Given the description of an element on the screen output the (x, y) to click on. 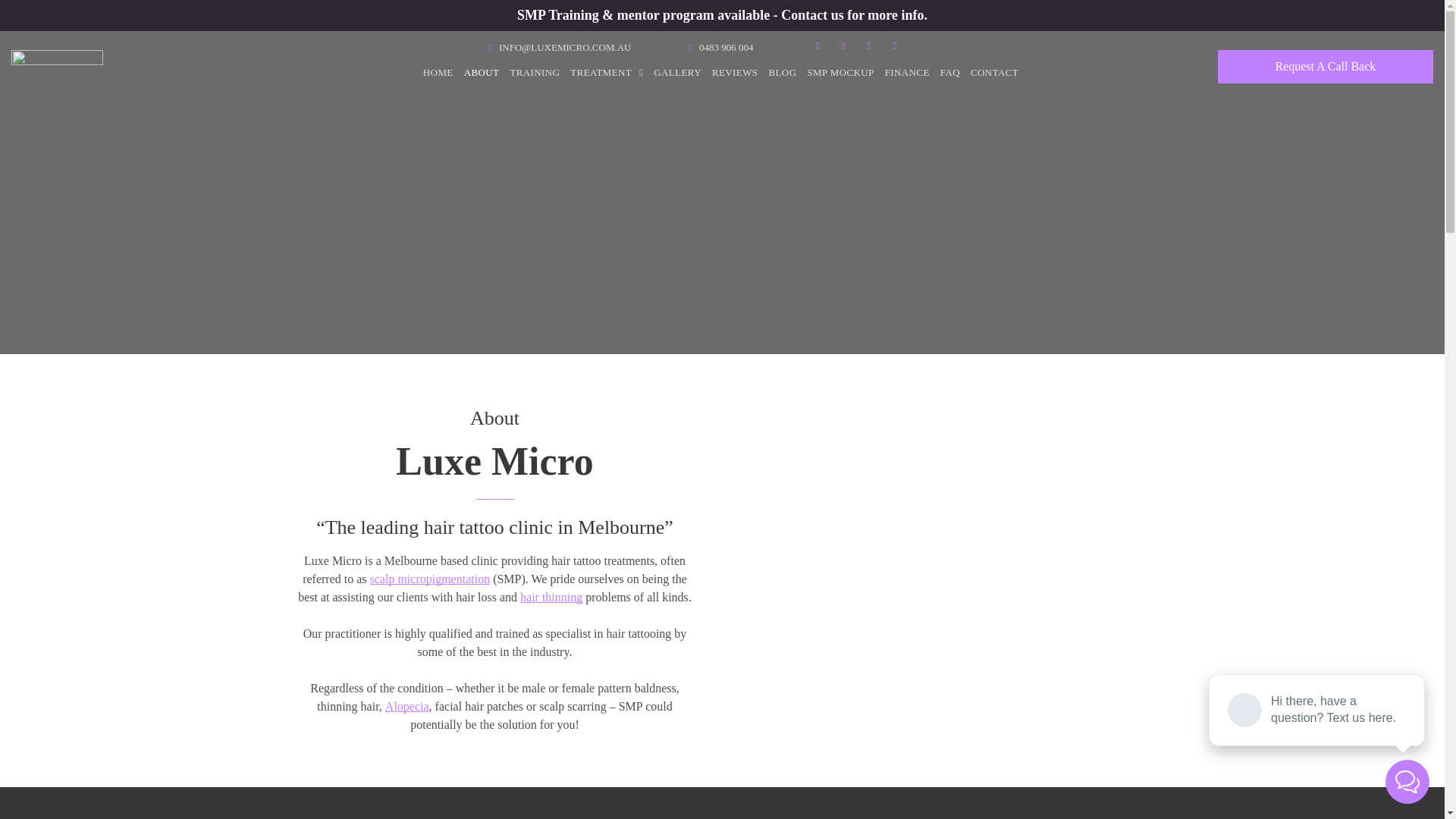
GALLERY Element type: text (677, 72)
scalp micropigmentation Element type: text (430, 578)
TRAINING Element type: text (534, 72)
ABOUT Element type: text (481, 72)
INFO@LUXEMICRO.COM.AU Element type: text (564, 47)
0483 906 004 Element type: text (726, 47)
FAQ Element type: text (950, 72)
SMP MOCKUP Element type: text (839, 72)
hair thinning Element type: text (551, 596)
HOME Element type: text (437, 72)
Alopecia Element type: text (407, 705)
TREATMENT Element type: text (606, 72)
CONTACT Element type: text (994, 72)
REVIEWS Element type: text (734, 72)
Request A Call Back Element type: text (1325, 66)
BLOG Element type: text (781, 72)
FINANCE Element type: text (907, 72)
